Given the description of an element on the screen output the (x, y) to click on. 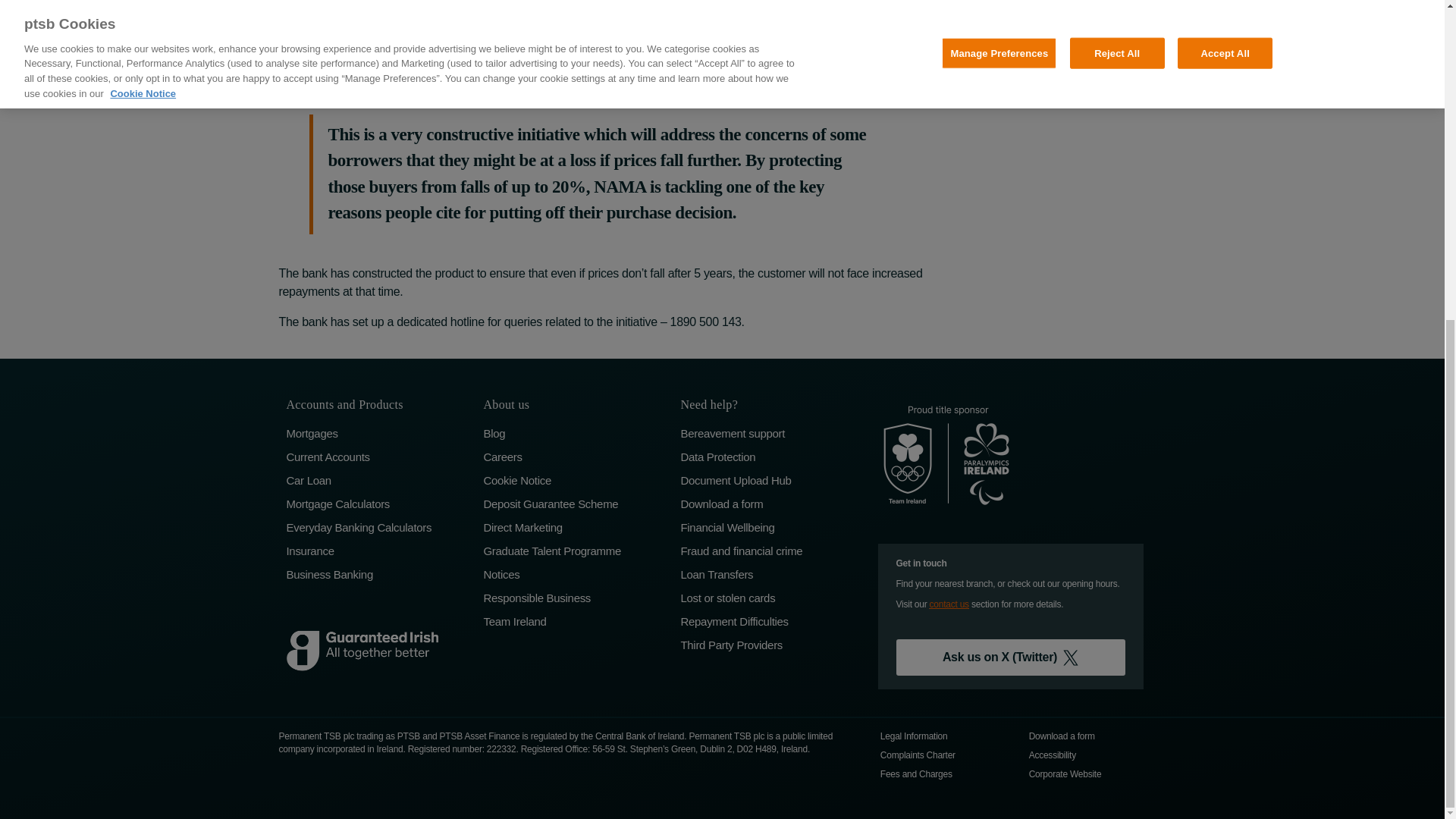
Document Upload Hub (770, 480)
Cookie Notice (574, 480)
